Given the description of an element on the screen output the (x, y) to click on. 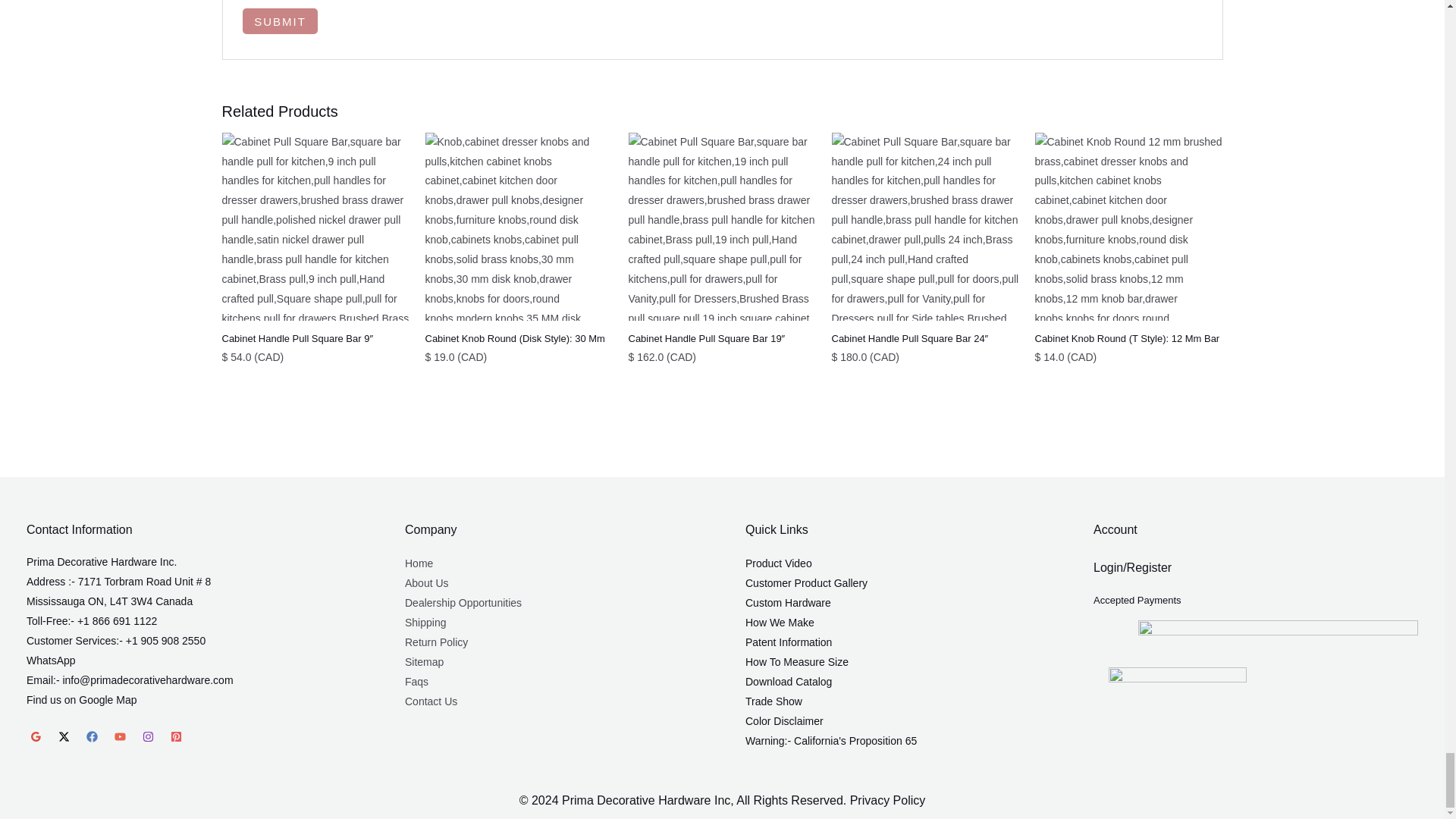
Submit (280, 21)
